Given the description of an element on the screen output the (x, y) to click on. 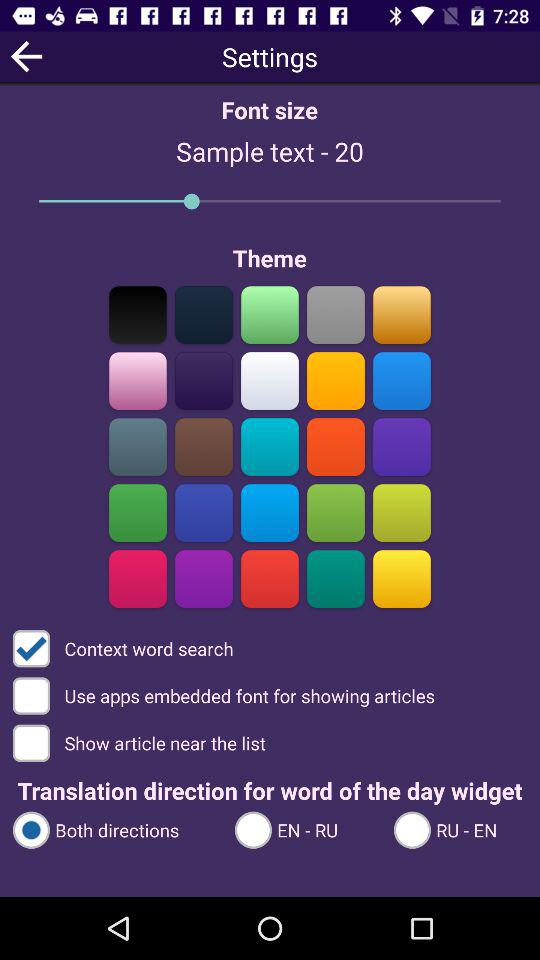
theme change (269, 578)
